Given the description of an element on the screen output the (x, y) to click on. 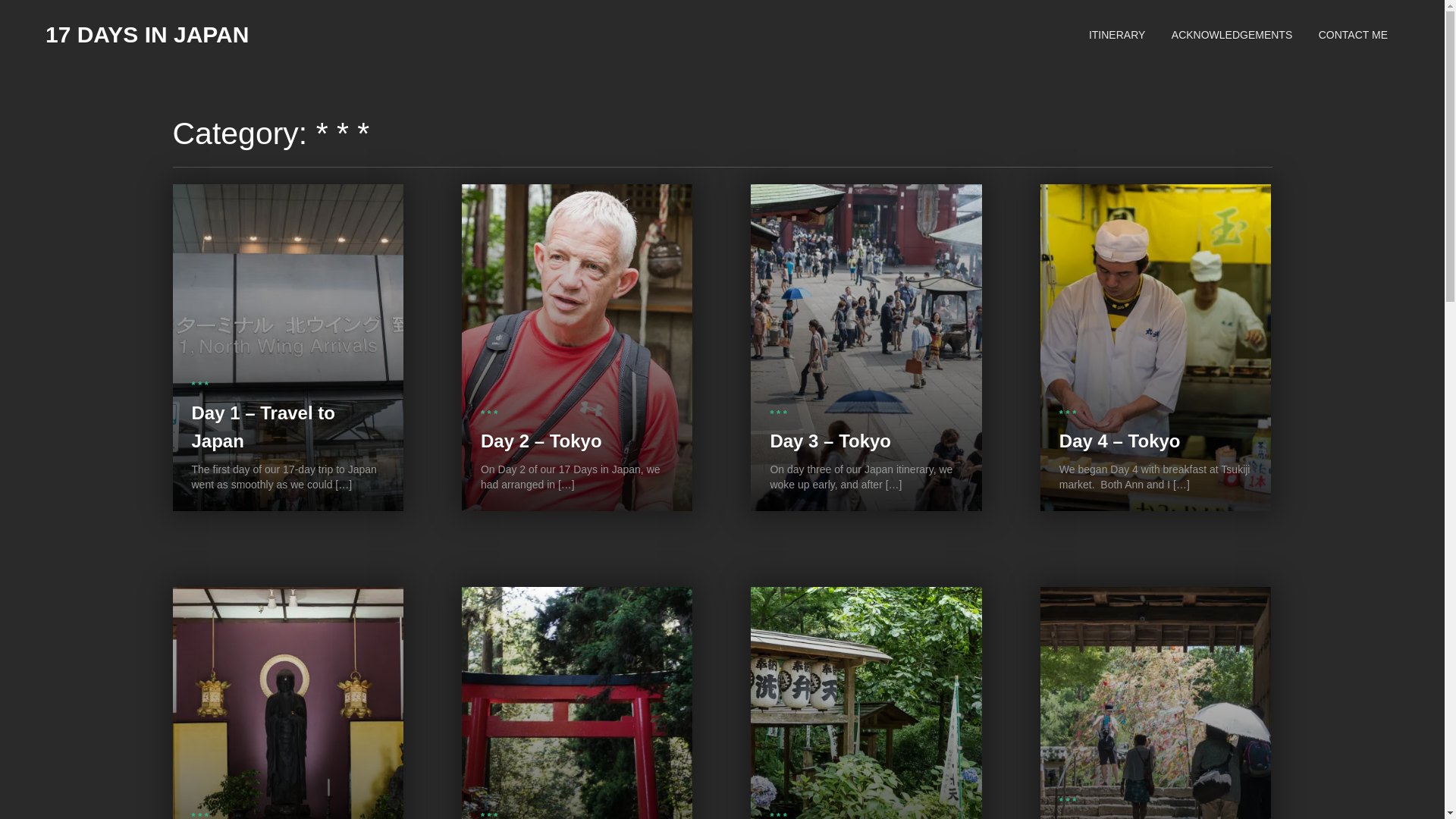
* * * Element type: text (777, 414)
ITINERARY Element type: text (1116, 34)
CONTACT ME Element type: text (1353, 34)
* * * Element type: text (488, 414)
17 DAYS IN JAPAN Element type: text (146, 34)
* * * Element type: text (1067, 801)
* * * Element type: text (1067, 414)
* * * Element type: text (199, 385)
ACKNOWLEDGEMENTS Element type: text (1231, 34)
